Given the description of an element on the screen output the (x, y) to click on. 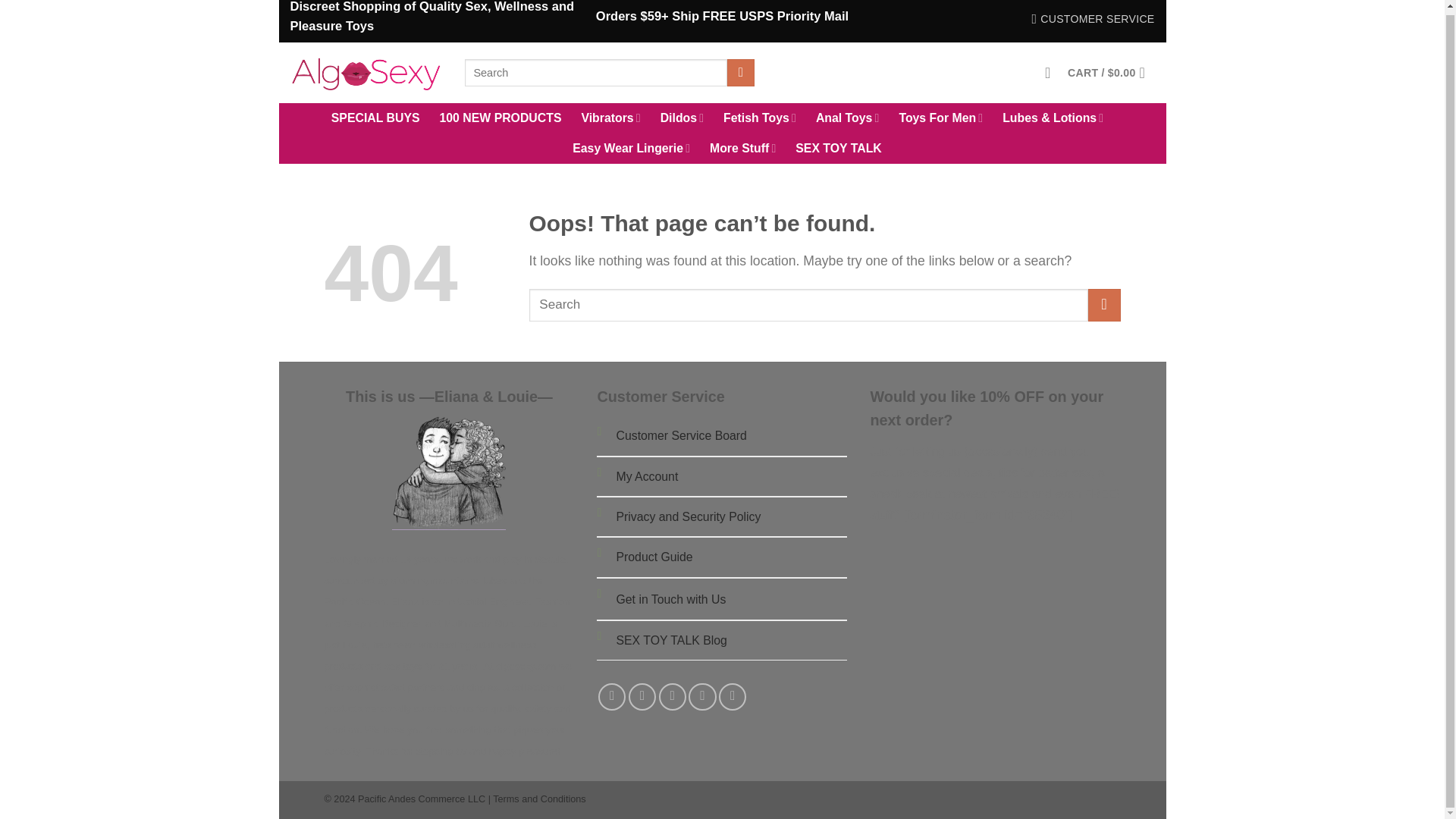
Follow on Twitter (672, 696)
SPECIAL BUYS (375, 118)
Send us an email (702, 696)
Dildos (682, 118)
Vibrators (610, 118)
Follow on Instagram (642, 696)
100 NEW PRODUCTS (500, 118)
Search (740, 72)
Fetish Toys (759, 118)
